Given the description of an element on the screen output the (x, y) to click on. 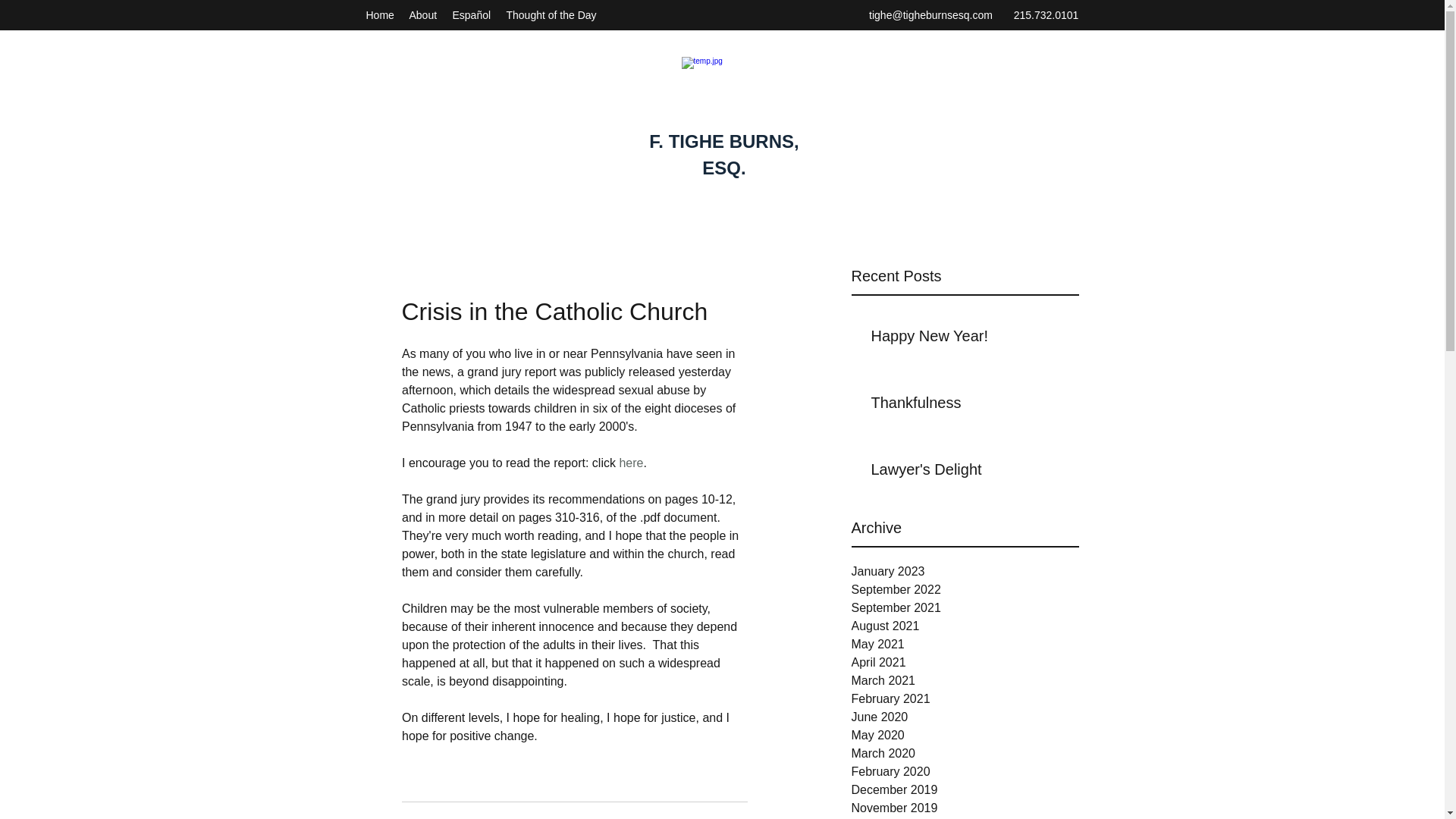
About (423, 15)
Lawyer's Delight (969, 472)
February 2021 (964, 699)
Home (379, 15)
April 2021 (964, 662)
May 2021 (964, 644)
September 2021 (964, 607)
Happy New Year! (969, 338)
March 2021 (964, 680)
September 2022 (964, 589)
Thought of the Day (551, 15)
January 2023 (964, 571)
May 2020 (964, 735)
March 2020 (964, 753)
August 2021 (964, 626)
